Given the description of an element on the screen output the (x, y) to click on. 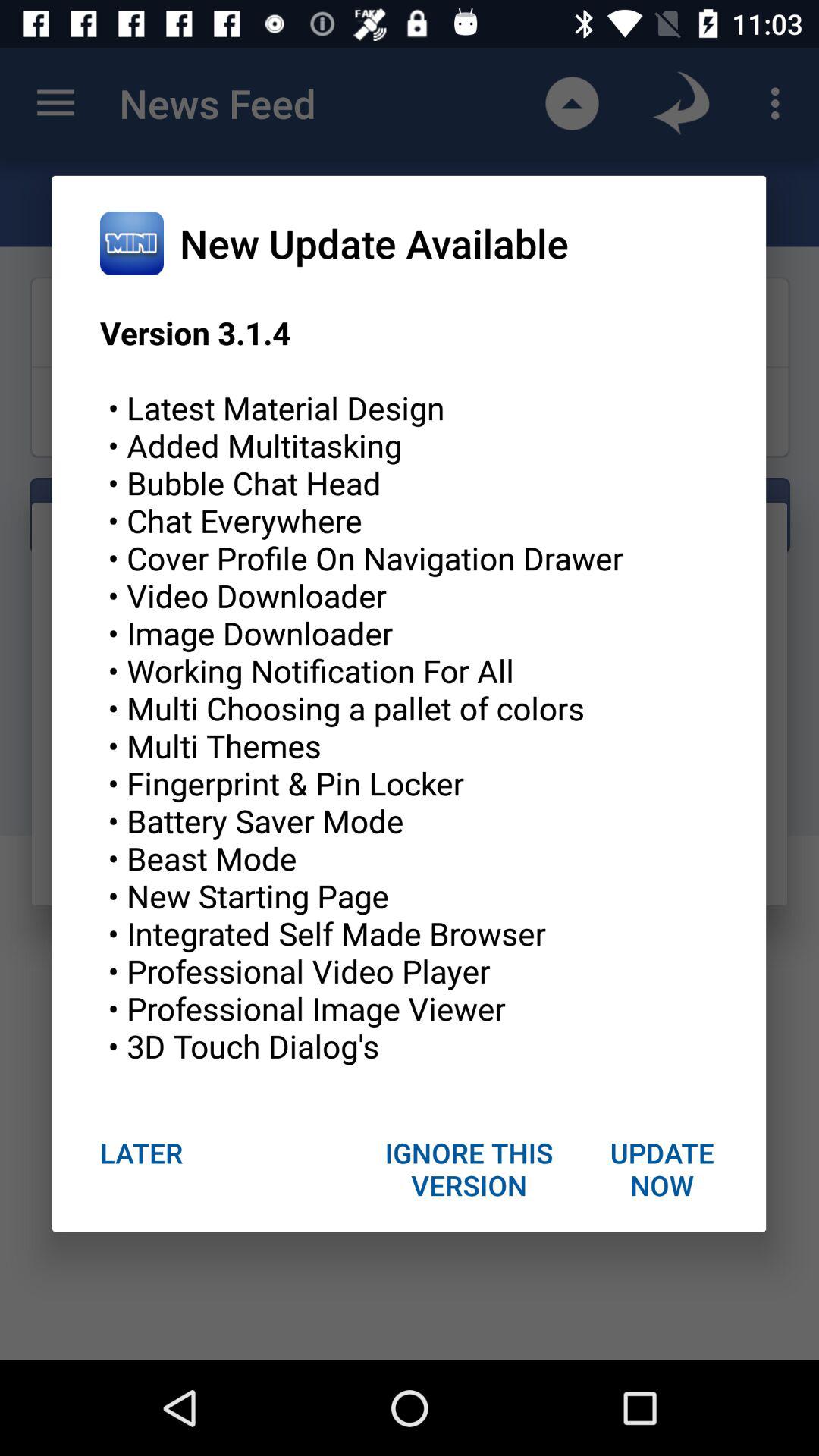
tap update
now (661, 1168)
